Given the description of an element on the screen output the (x, y) to click on. 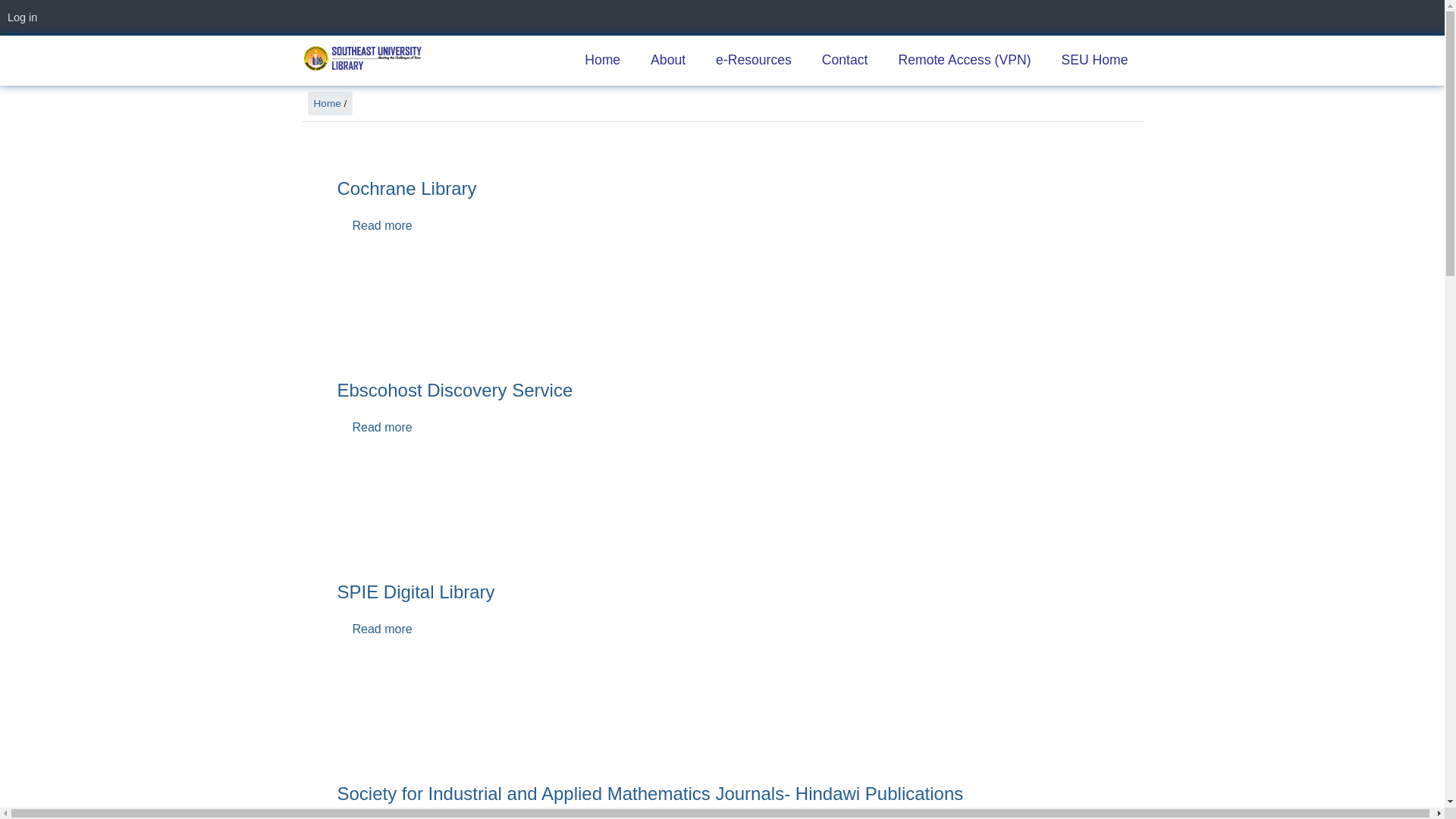
SEU Home Element type: text (1094, 60)
Home Element type: text (327, 103)
Cochrane Library Element type: text (406, 188)
Read more
about SPIE Digital Library Element type: text (381, 628)
e-Resources Element type: text (753, 60)
Skip to main content Element type: text (0, 0)
Home Element type: text (602, 60)
About Element type: text (667, 60)
Log in Element type: text (25, 17)
Home Element type: hover (362, 57)
Contact Element type: text (844, 60)
Read more
about Cochrane Library Element type: text (381, 225)
Remote Access (VPN) Element type: text (963, 60)
Read more
about Ebscohost Discovery Service Element type: text (381, 426)
SPIE Digital Library Element type: text (415, 591)
Ebscohost Discovery Service Element type: text (454, 389)
